Given the description of an element on the screen output the (x, y) to click on. 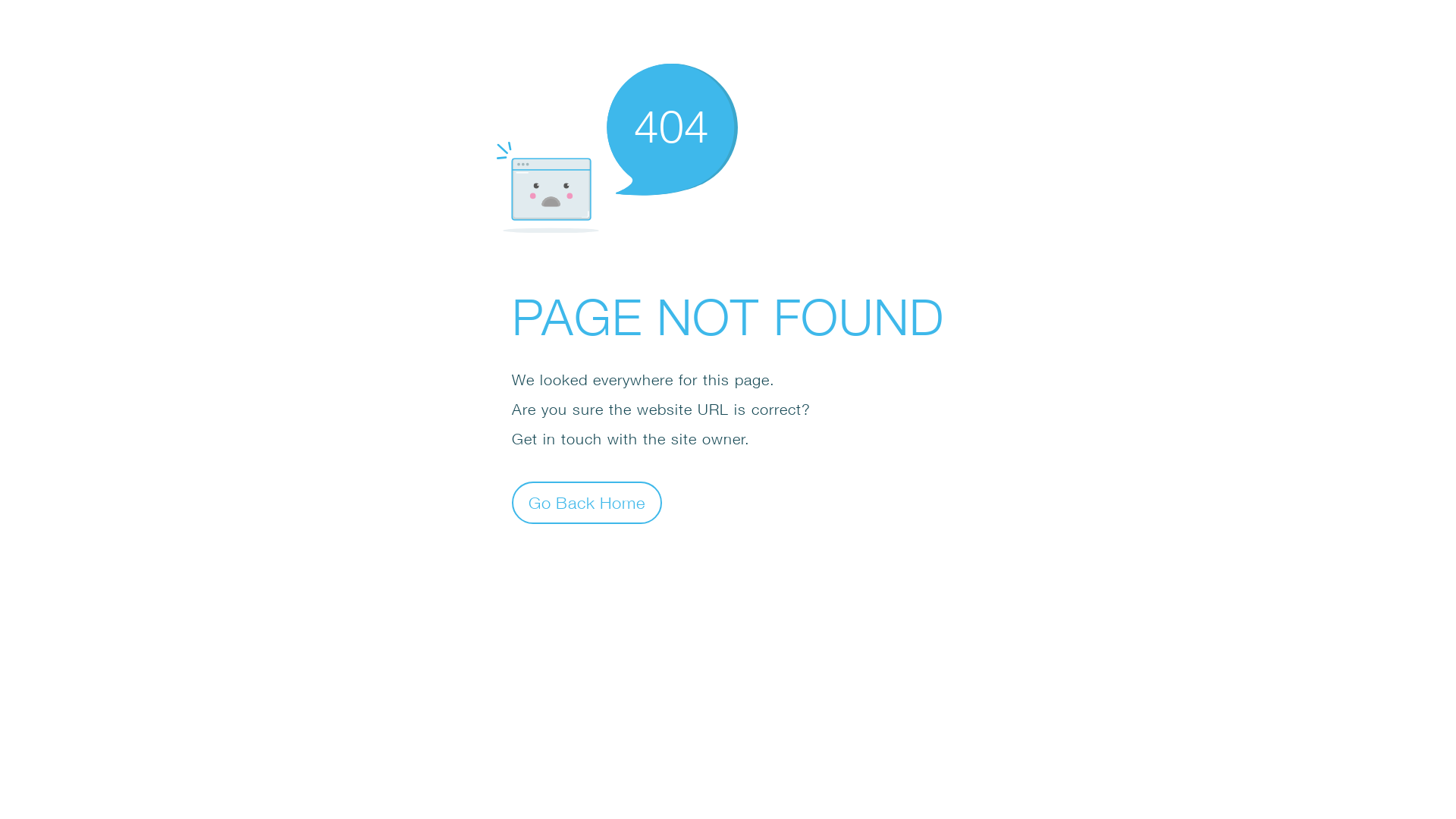
Go Back Home Element type: text (586, 502)
